Given the description of an element on the screen output the (x, y) to click on. 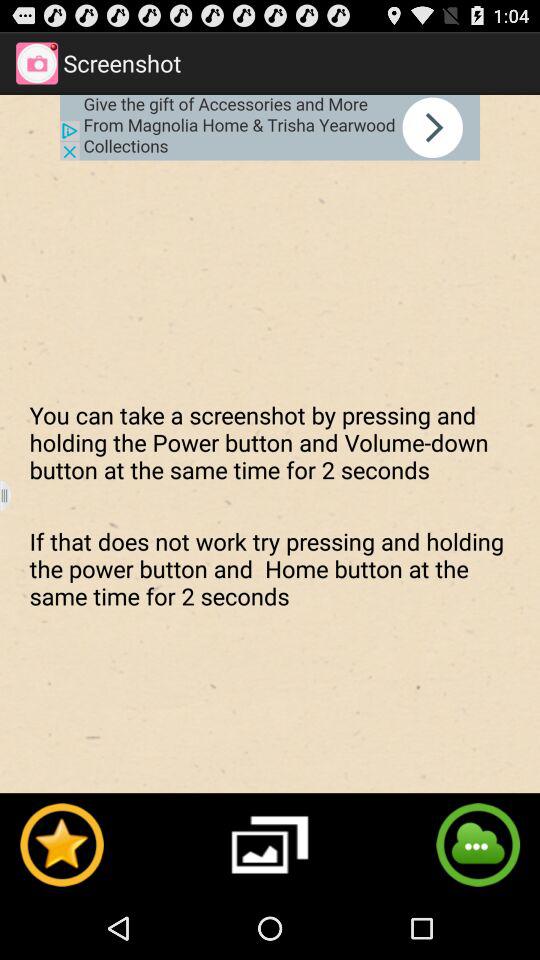
go to gallery (269, 844)
